Given the description of an element on the screen output the (x, y) to click on. 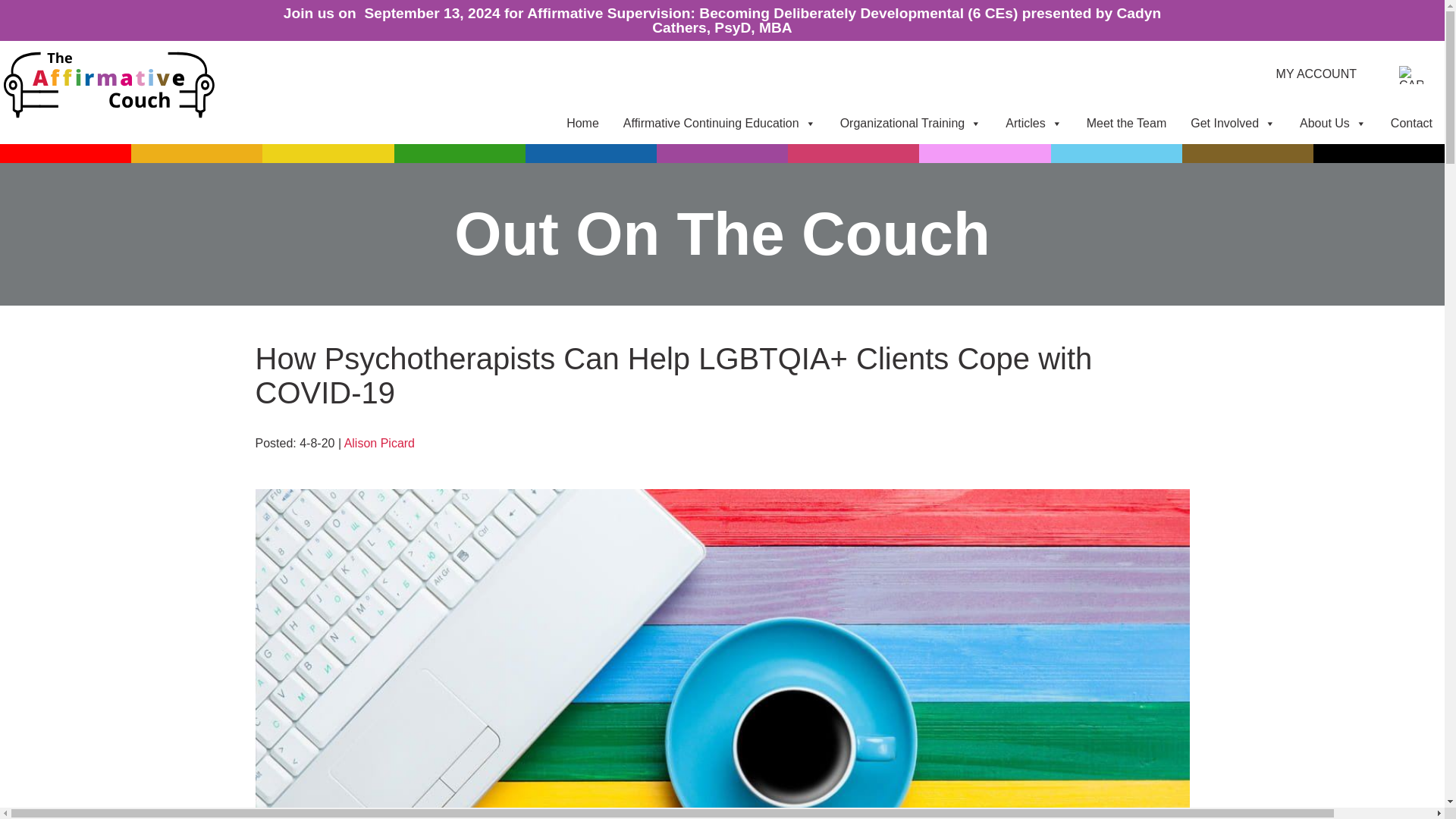
Meet the Team (1126, 123)
Home (582, 123)
Alison Picard (378, 442)
Cart (1411, 75)
Contact (1411, 123)
Articles (1033, 123)
MY ACCOUNT (1315, 74)
Get Involved (1232, 123)
About Us (1332, 123)
Affirmative Continuing Education (719, 123)
